Given the description of an element on the screen output the (x, y) to click on. 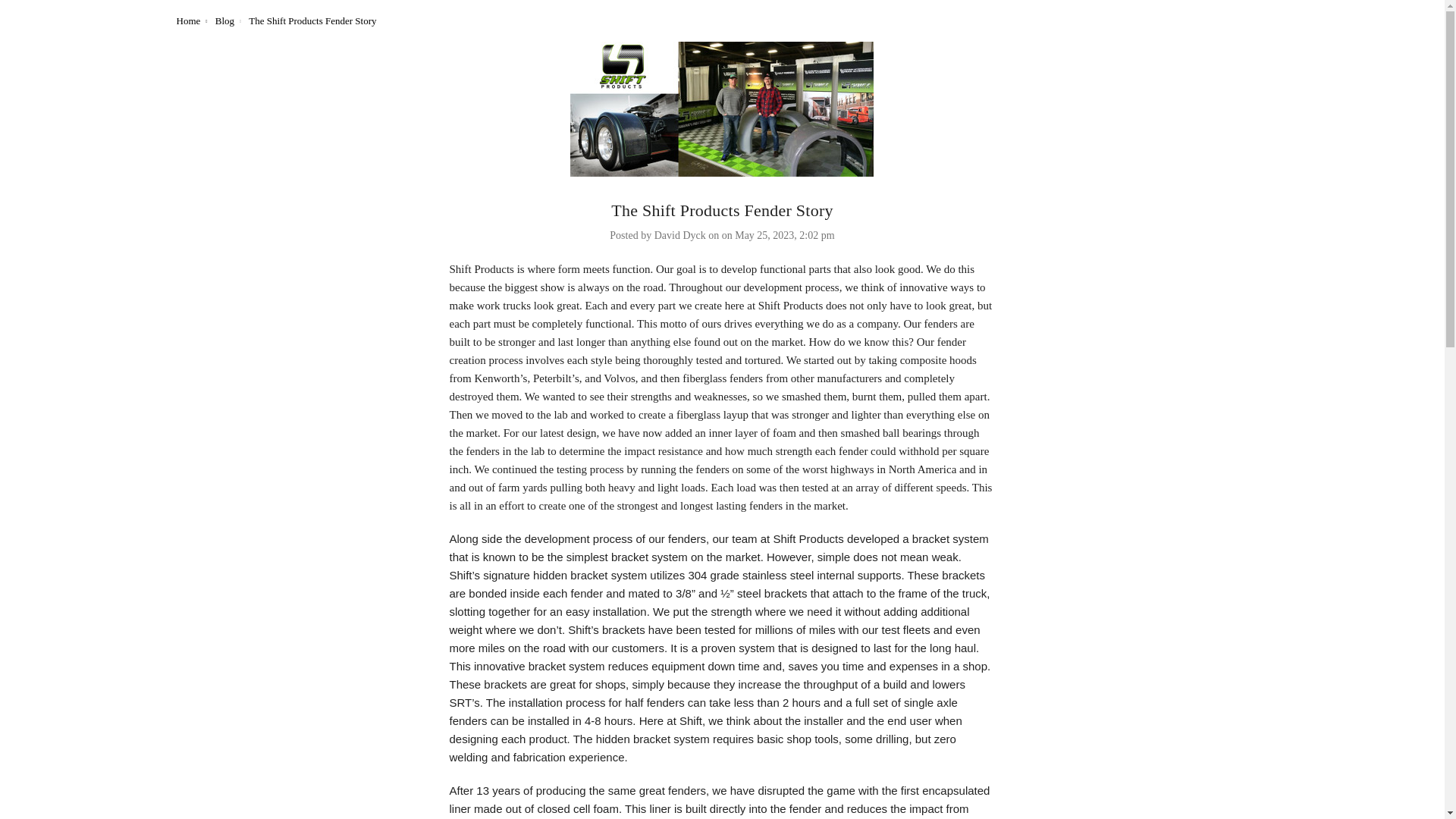
The Shift Products Fender Story (721, 108)
